Given the description of an element on the screen output the (x, y) to click on. 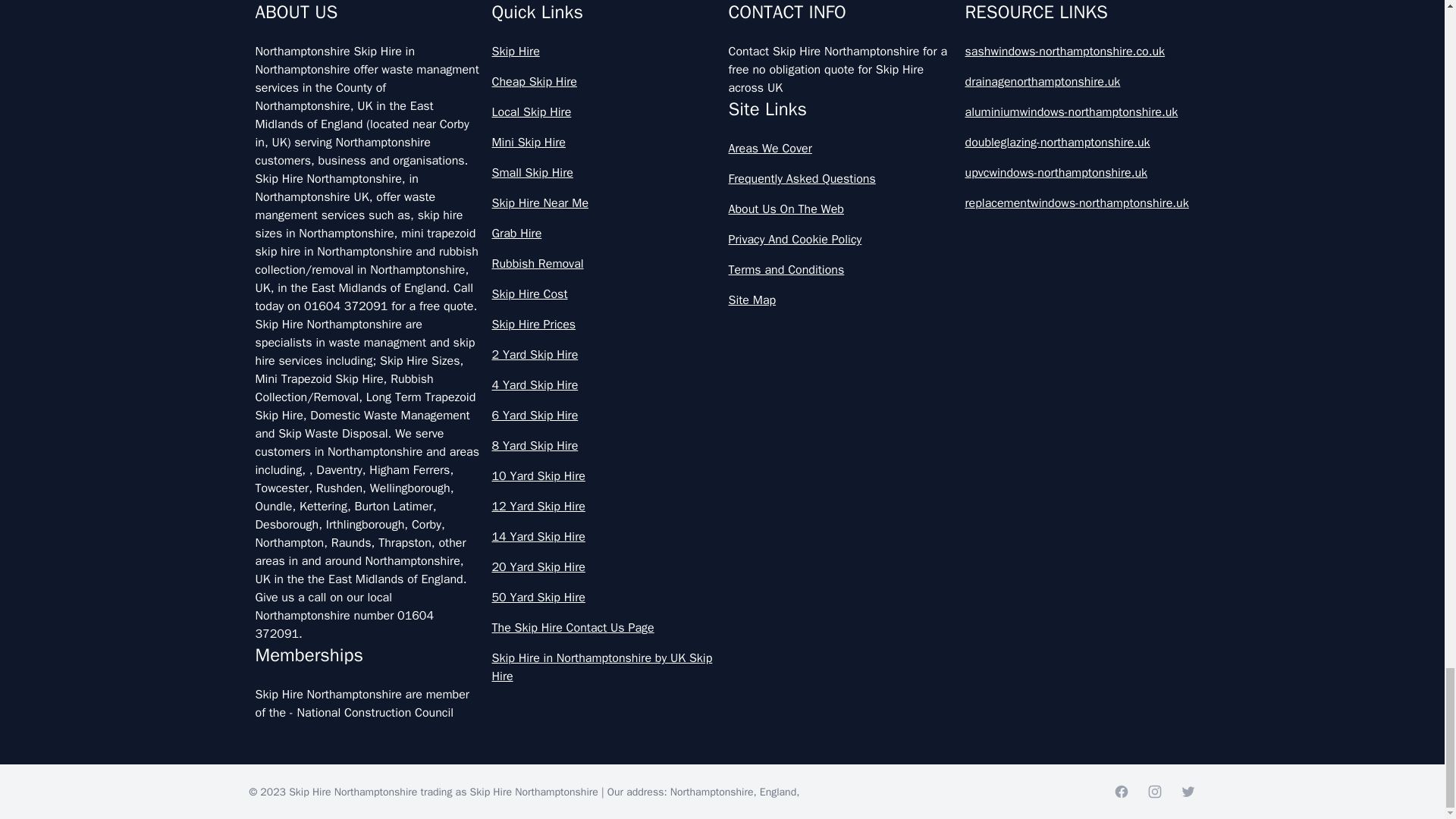
doubleglazing-northamptonshire.uk (1076, 142)
What Is Grab Hire In Northamptonshire (722, 90)
replacementwindows-northamptonshire.uk (1076, 203)
drainagenorthamptonshire.uk (1076, 81)
Site Map (840, 300)
upvcwindows-northamptonshire.uk (1076, 172)
aluminiumwindows-northamptonshire.uk (1076, 112)
Is Grab Hire Cheaper Than A Skip In Northamptonshire (722, 24)
Skip Hire in Northamptonshire by UK Skip Hire (604, 667)
sashwindows-northamptonshire.co.uk (1076, 51)
